Given the description of an element on the screen output the (x, y) to click on. 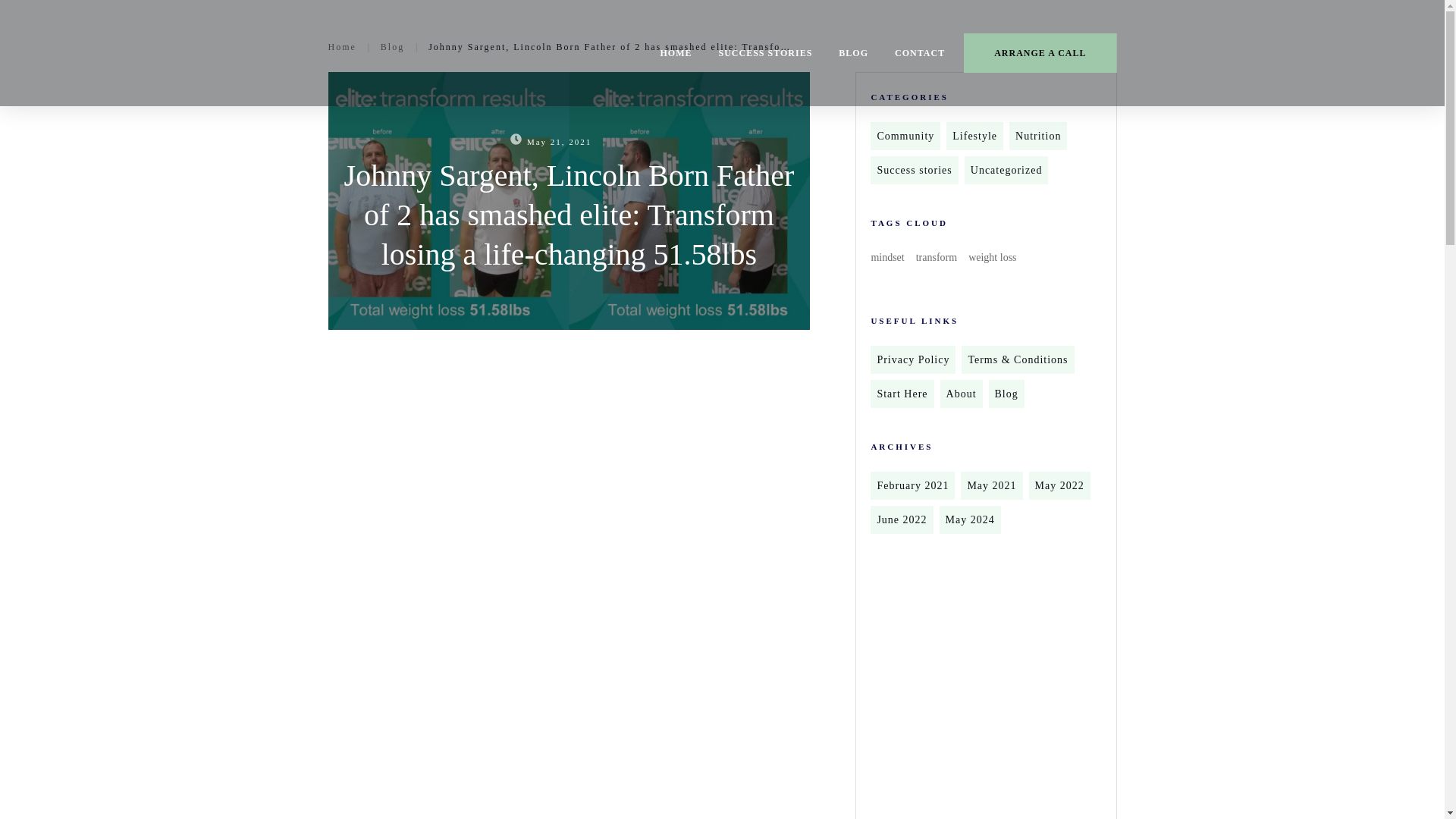
May 2021 (991, 485)
Uncategorized (1006, 170)
Nutrition (1037, 135)
Blog (1005, 393)
BLOG (852, 53)
Success stories (914, 170)
Home (341, 46)
Privacy Policy (912, 359)
CONTACT (919, 53)
HOME (675, 53)
About (961, 393)
May 2022 (1059, 485)
Blog (392, 46)
February 2021 (912, 485)
Start Here (901, 393)
